Given the description of an element on the screen output the (x, y) to click on. 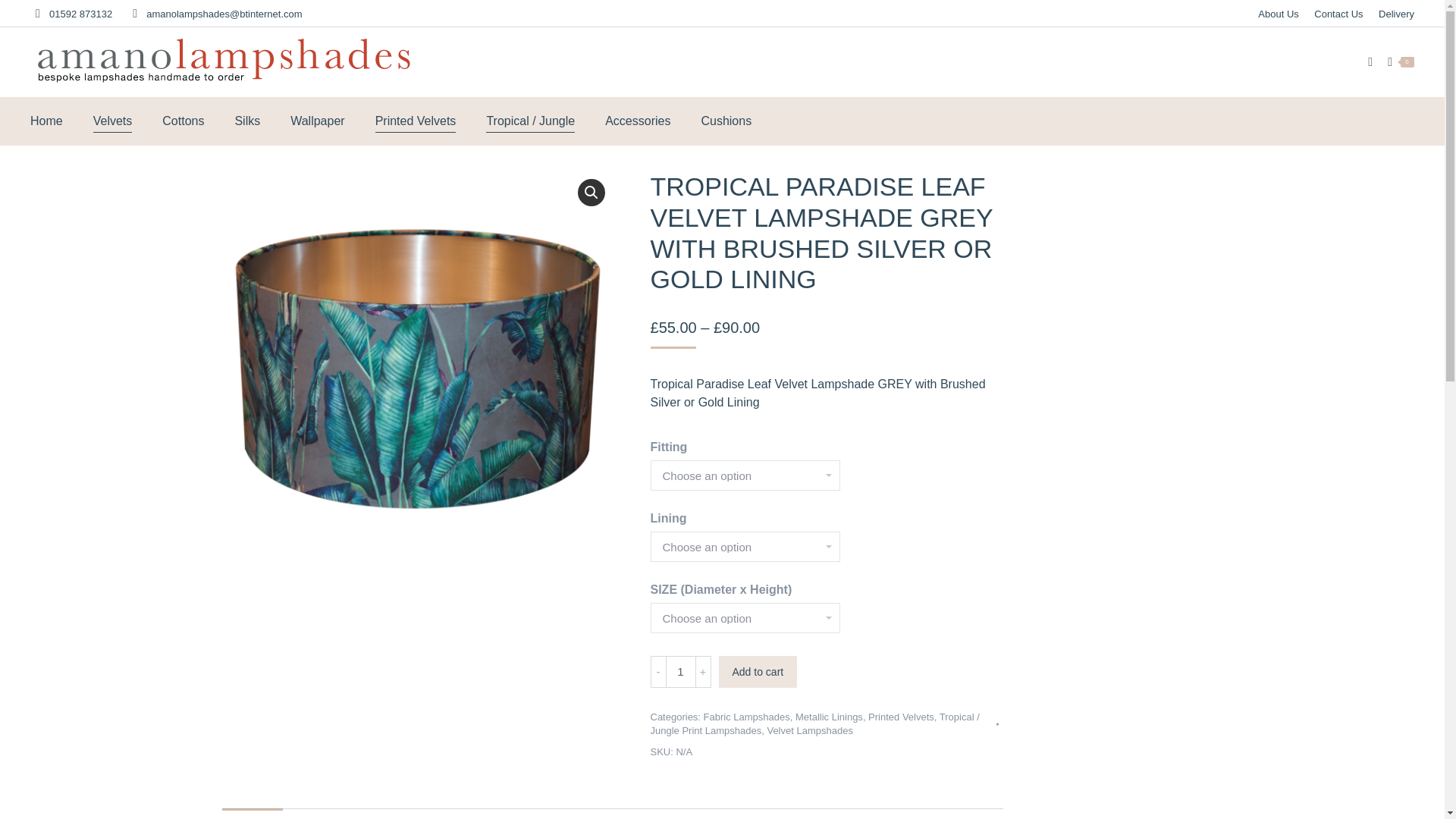
Contact Us (1338, 12)
Home (46, 120)
Cottons (182, 120)
Velvets (112, 120)
Qty (680, 671)
Delivery (1395, 12)
Cushions (725, 120)
 0 (1400, 61)
Printed Velvets (416, 120)
